Given the description of an element on the screen output the (x, y) to click on. 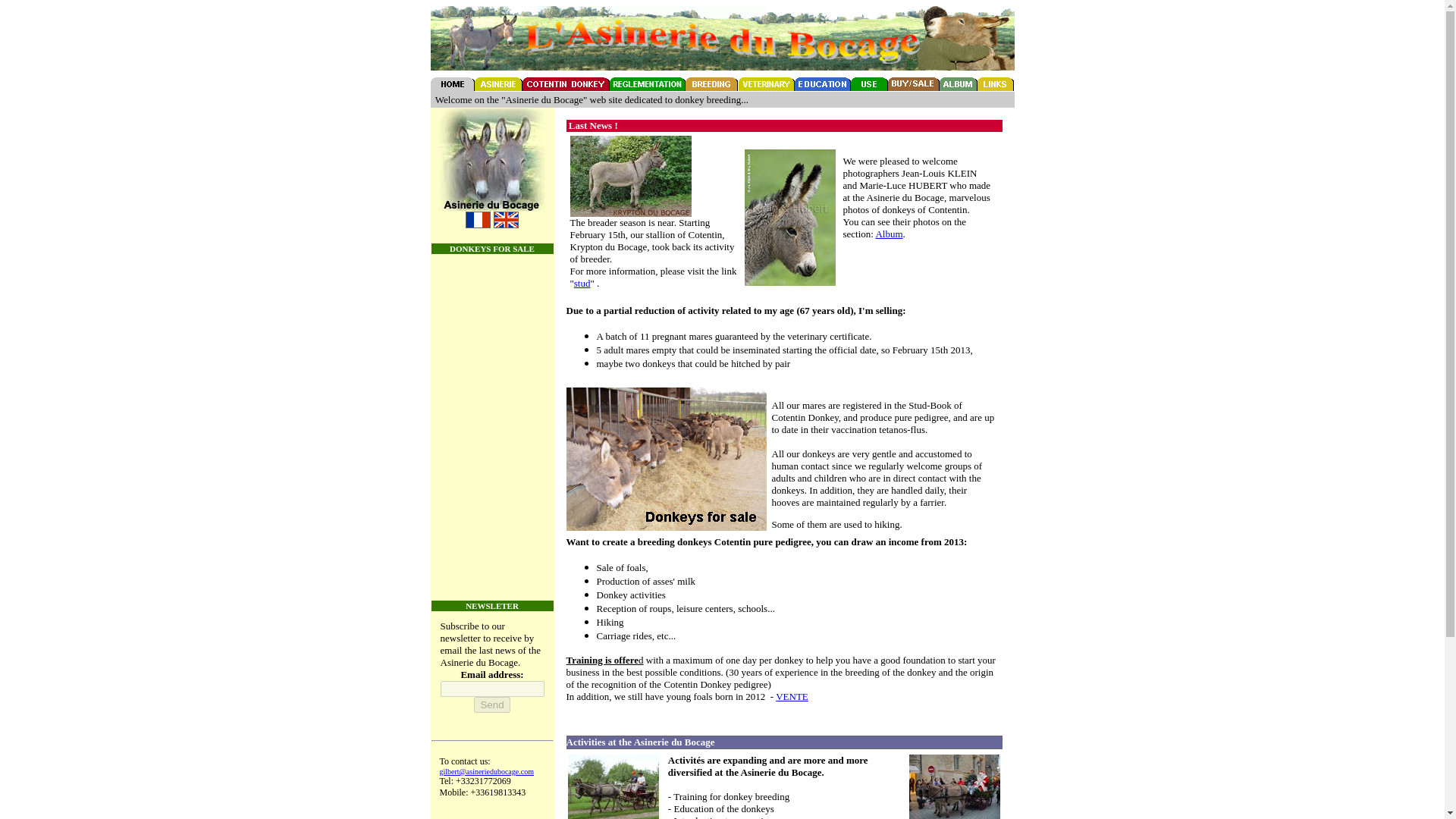
VENTE (792, 696)
Send (491, 704)
stud (582, 283)
Send (491, 704)
Album (888, 233)
